Given the description of an element on the screen output the (x, y) to click on. 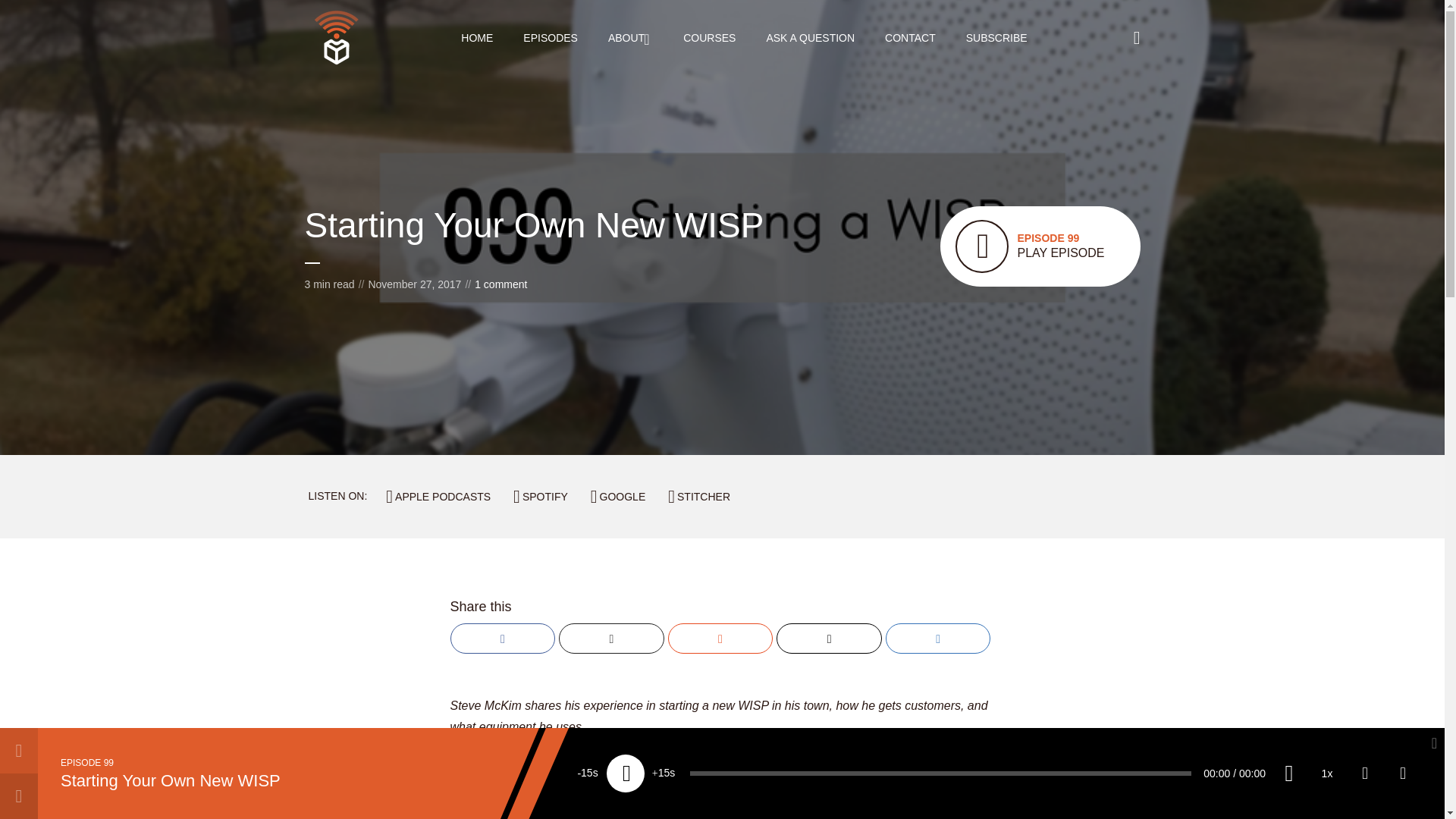
EPISODES (550, 37)
Subscribe (1364, 773)
SUBSCRIBE (996, 37)
1 comment (500, 284)
HOME (477, 37)
Jump forward 15 seconds (1040, 246)
Skip back 15 seconds (663, 773)
Speed Rate (588, 773)
COURSES (1326, 773)
ASK A QUESTION (708, 37)
Play (809, 37)
CONTACT (626, 773)
share (910, 37)
SPOTIFY (1403, 773)
